Given the description of an element on the screen output the (x, y) to click on. 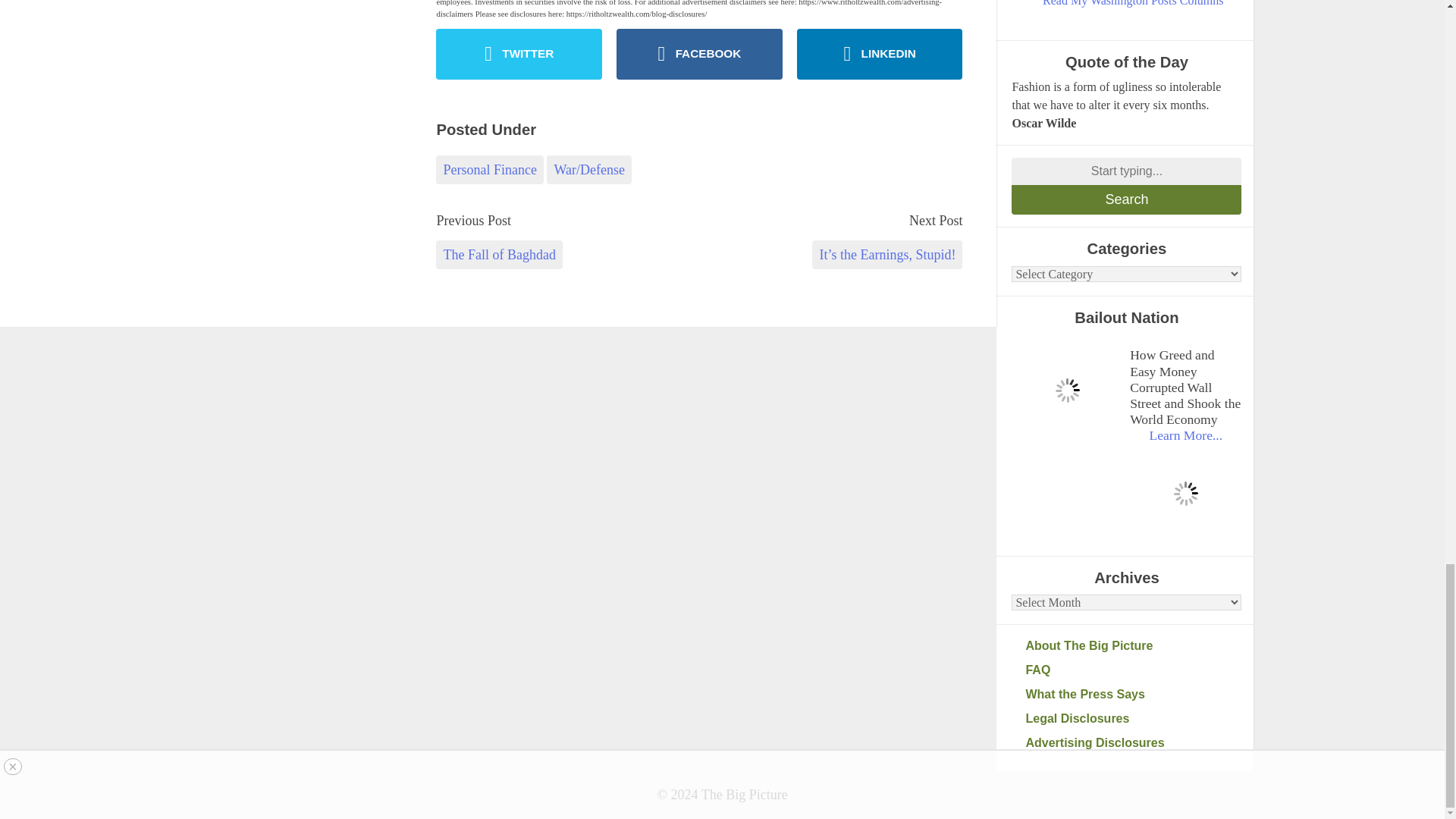
Search (1126, 199)
FACEBOOK (699, 53)
Search (1126, 199)
Search (1126, 199)
Personal Finance (489, 169)
The Fall of Baghdad (498, 254)
Bailout Nation (1066, 389)
LINKEDIN (879, 53)
TWITTER (518, 53)
Read My Washington Posts Columns (1132, 4)
